Given the description of an element on the screen output the (x, y) to click on. 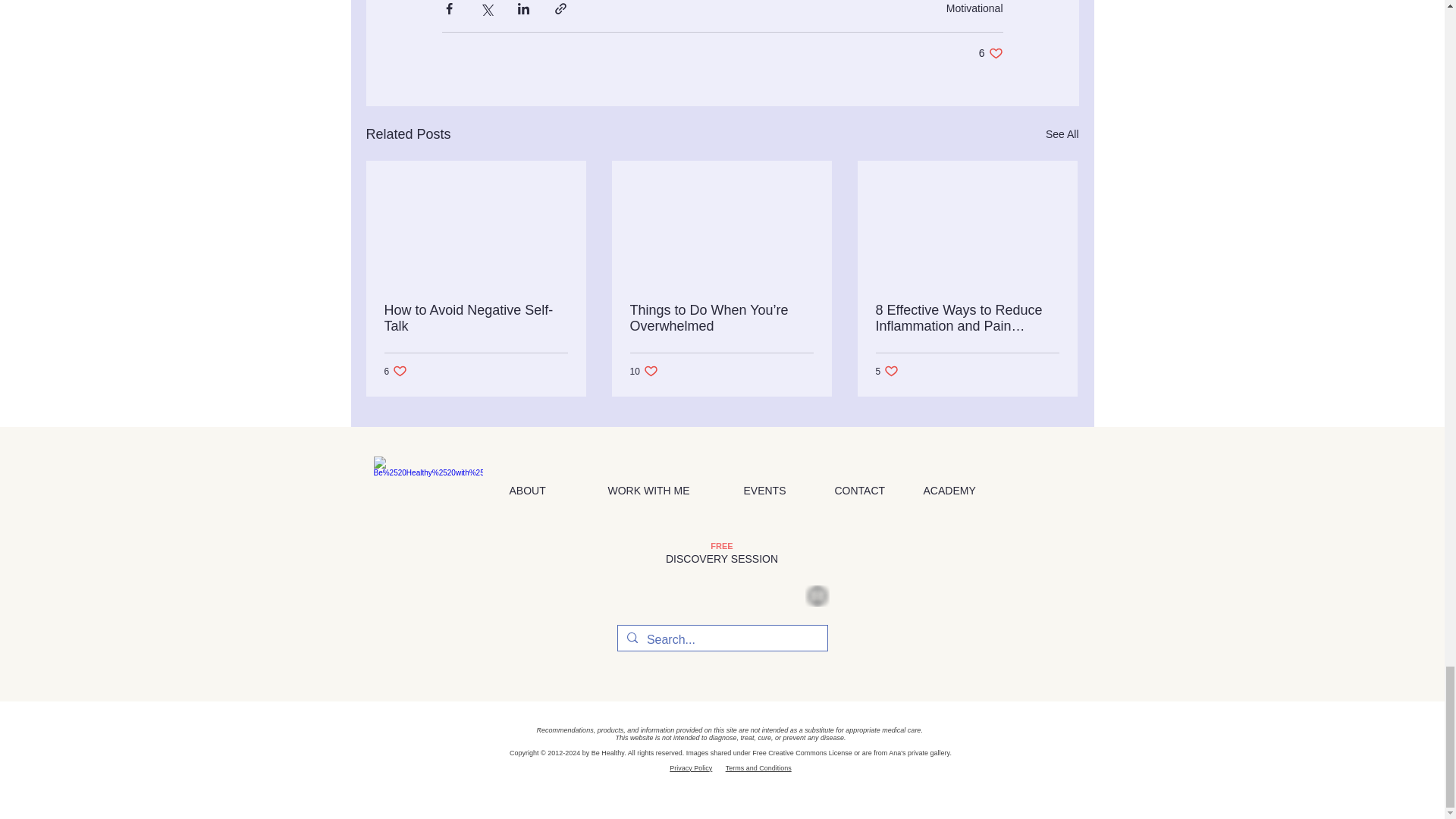
Motivational (974, 8)
How to Avoid Negative Self-Talk (475, 318)
See All (1061, 134)
Contact us! (817, 595)
